Given the description of an element on the screen output the (x, y) to click on. 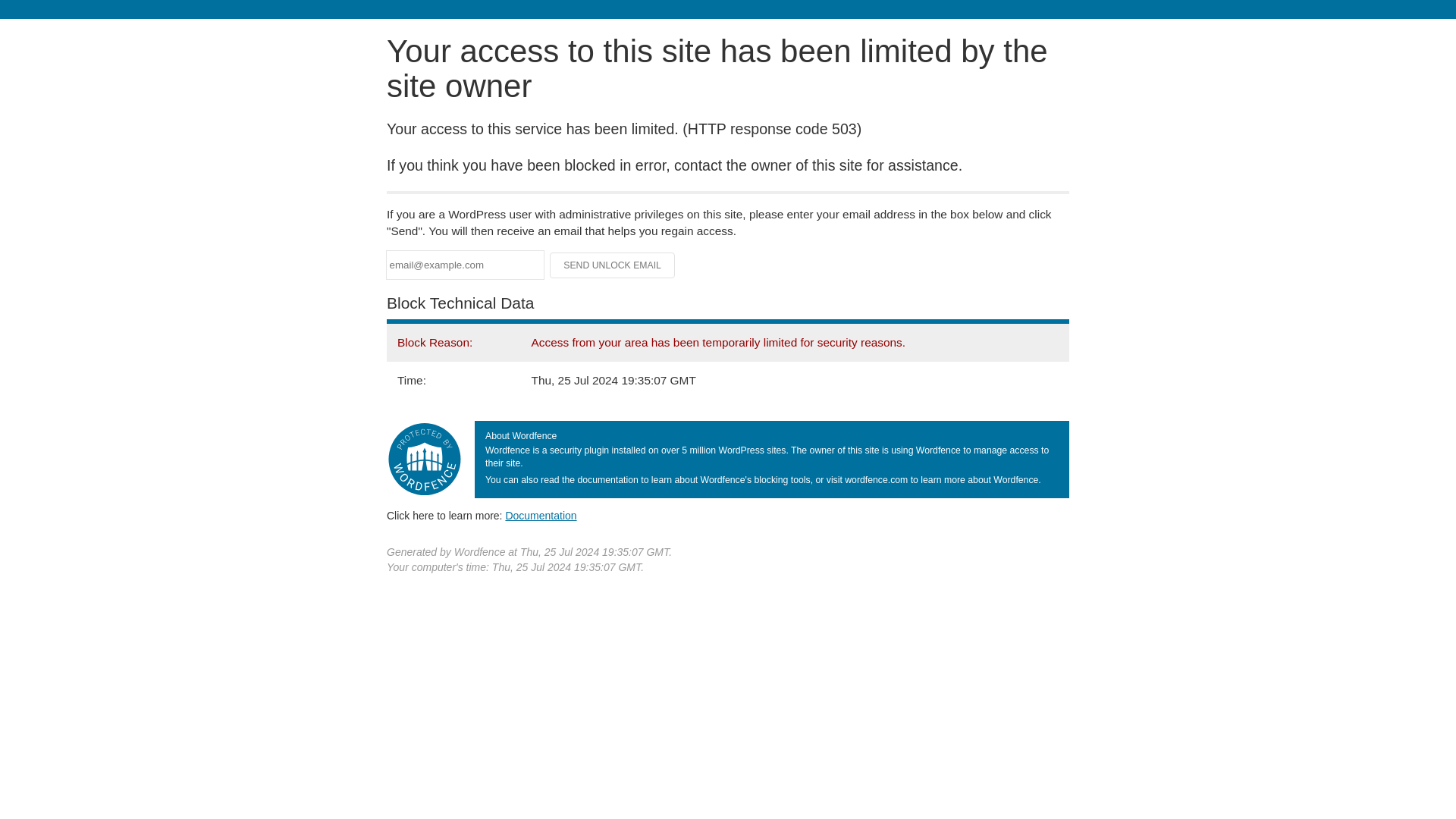
Send Unlock Email (612, 265)
Documentation (540, 515)
Send Unlock Email (612, 265)
